Given the description of an element on the screen output the (x, y) to click on. 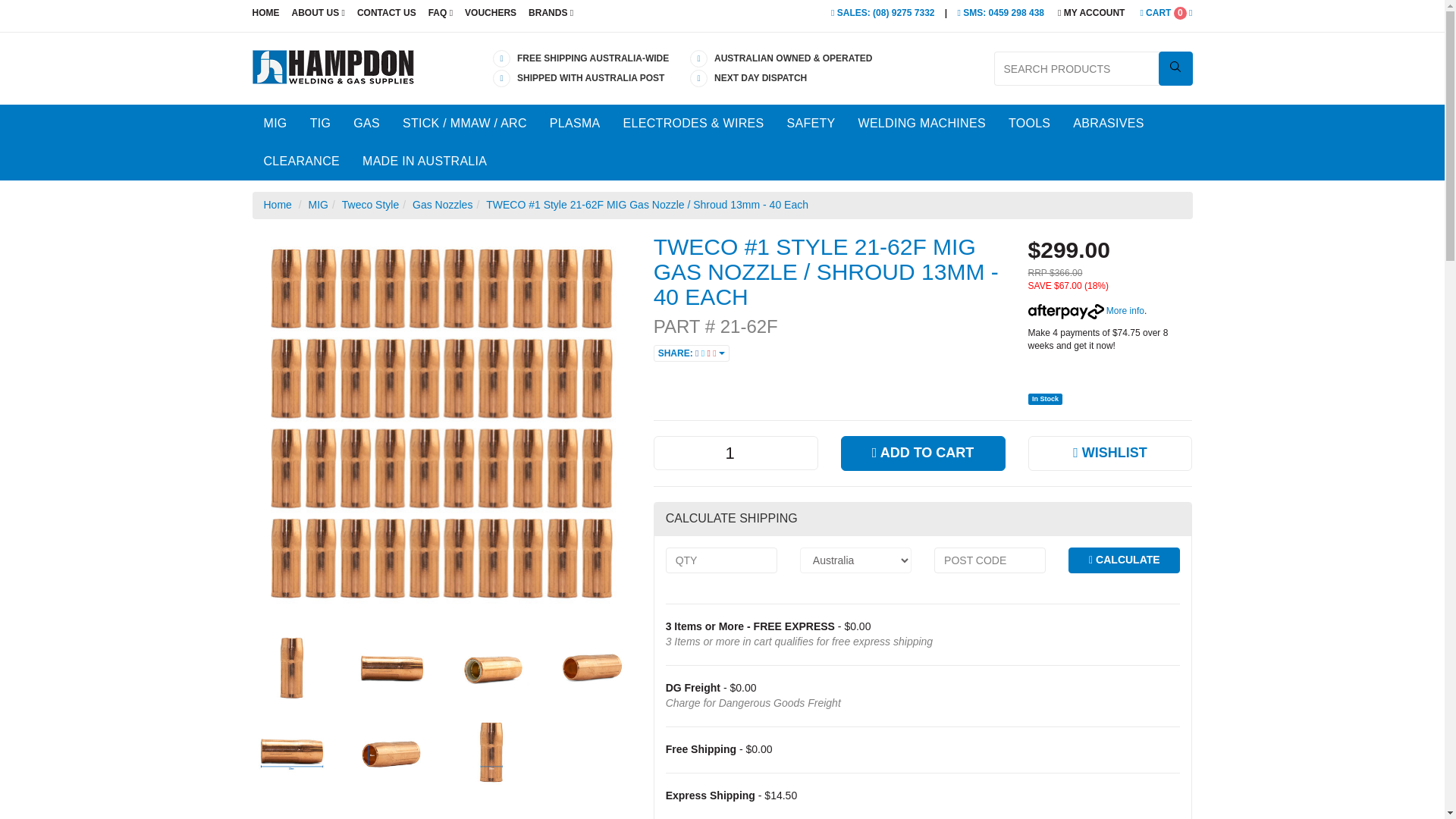
FAQ (440, 12)
Hampdon Industrial Pty.Ltd (332, 65)
MY ACCOUNT (1090, 12)
SMS: 0459 298 438 (1000, 12)
Submit the search query (1175, 68)
BRANDS (550, 12)
CONTACT US (386, 12)
CART 0 (1162, 12)
ABOUT US (317, 12)
HOME (268, 12)
VOUCHERS (490, 12)
1 (735, 452)
